Given the description of an element on the screen output the (x, y) to click on. 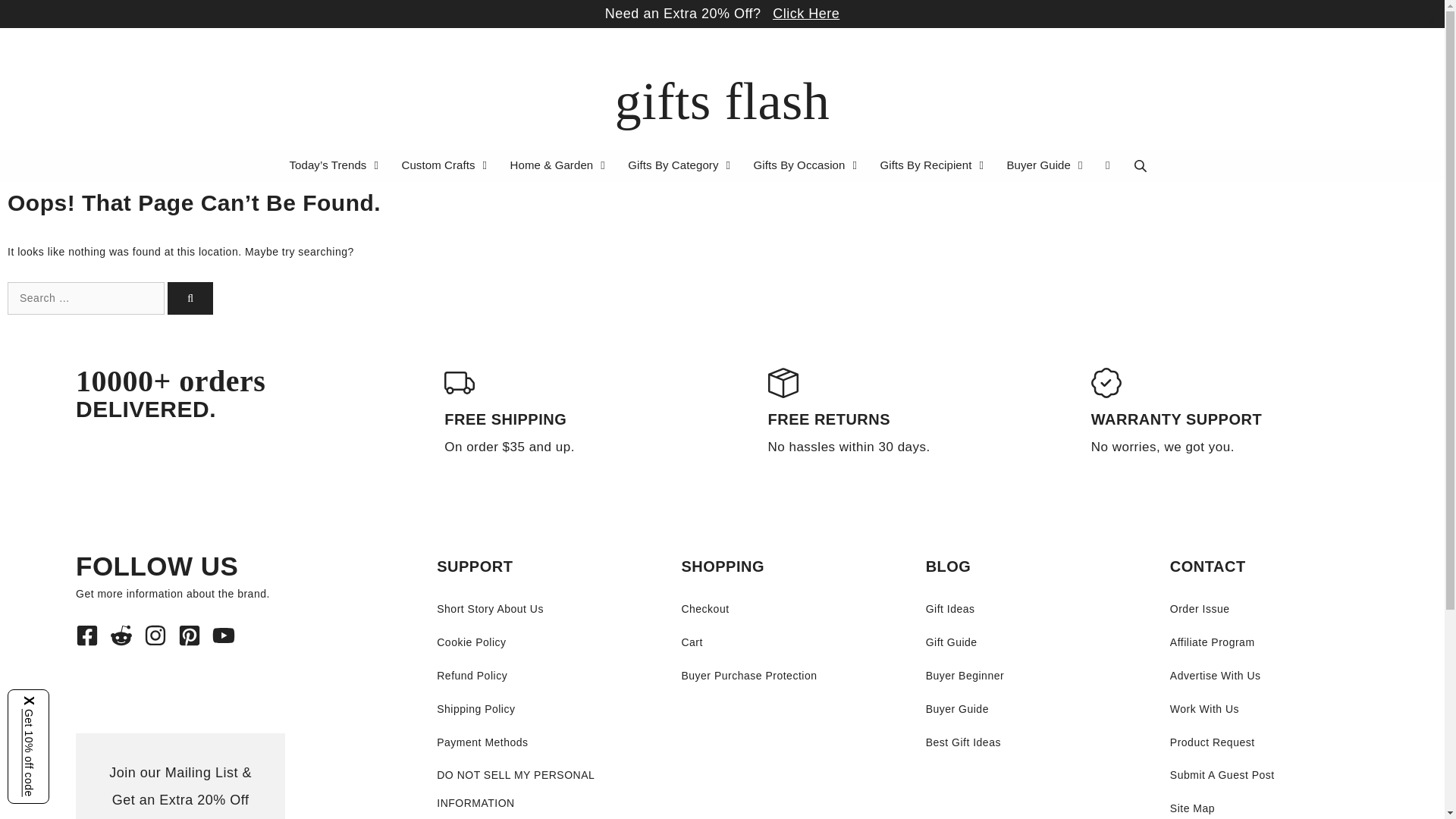
View your shopping cart (1107, 164)
Custom Crafts (445, 164)
Search for: (85, 297)
Click Here (806, 13)
gifts flash (721, 101)
